Given the description of an element on the screen output the (x, y) to click on. 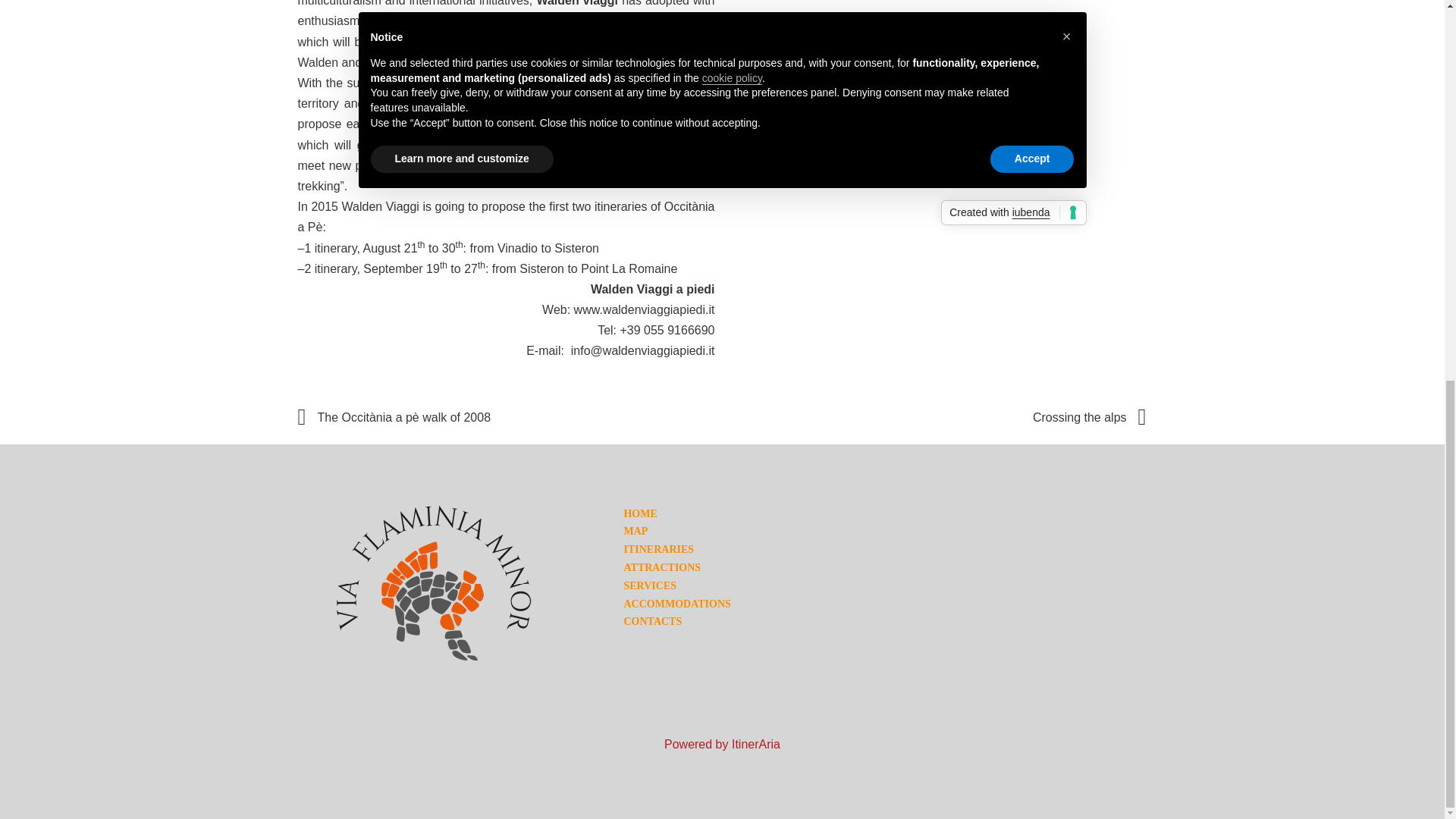
ATTRACTIONS (661, 567)
ACCOMMODATIONS (676, 603)
2 itinerary, September 19 (371, 268)
Powered by ItinerAria (721, 744)
www.waldenviaggiapiedi.it (643, 309)
Crossing the alps (1089, 417)
th to 27th: from Sisteron to Point La Romaine (558, 268)
ITINERARIES (658, 549)
th to 30th: from Vinadio to Sisteron (507, 247)
1 itinerary, August 21 (360, 247)
